Given the description of an element on the screen output the (x, y) to click on. 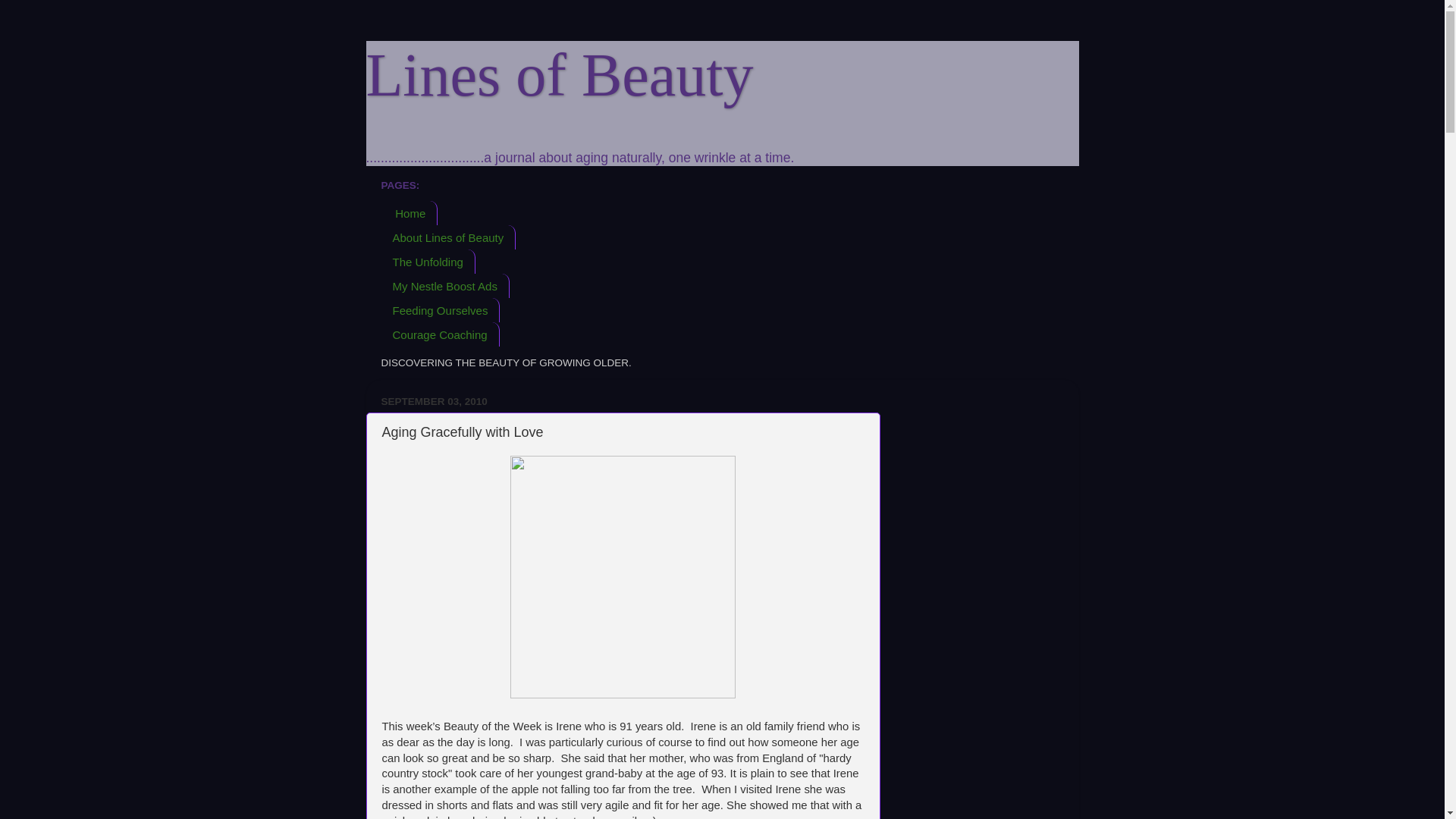
The Unfolding (427, 261)
My Nestle Boost Ads (444, 285)
Feeding Ourselves (439, 310)
Courage Coaching (439, 334)
Home (409, 212)
About Lines of Beauty (447, 237)
Lines of Beauty (558, 74)
